Given the description of an element on the screen output the (x, y) to click on. 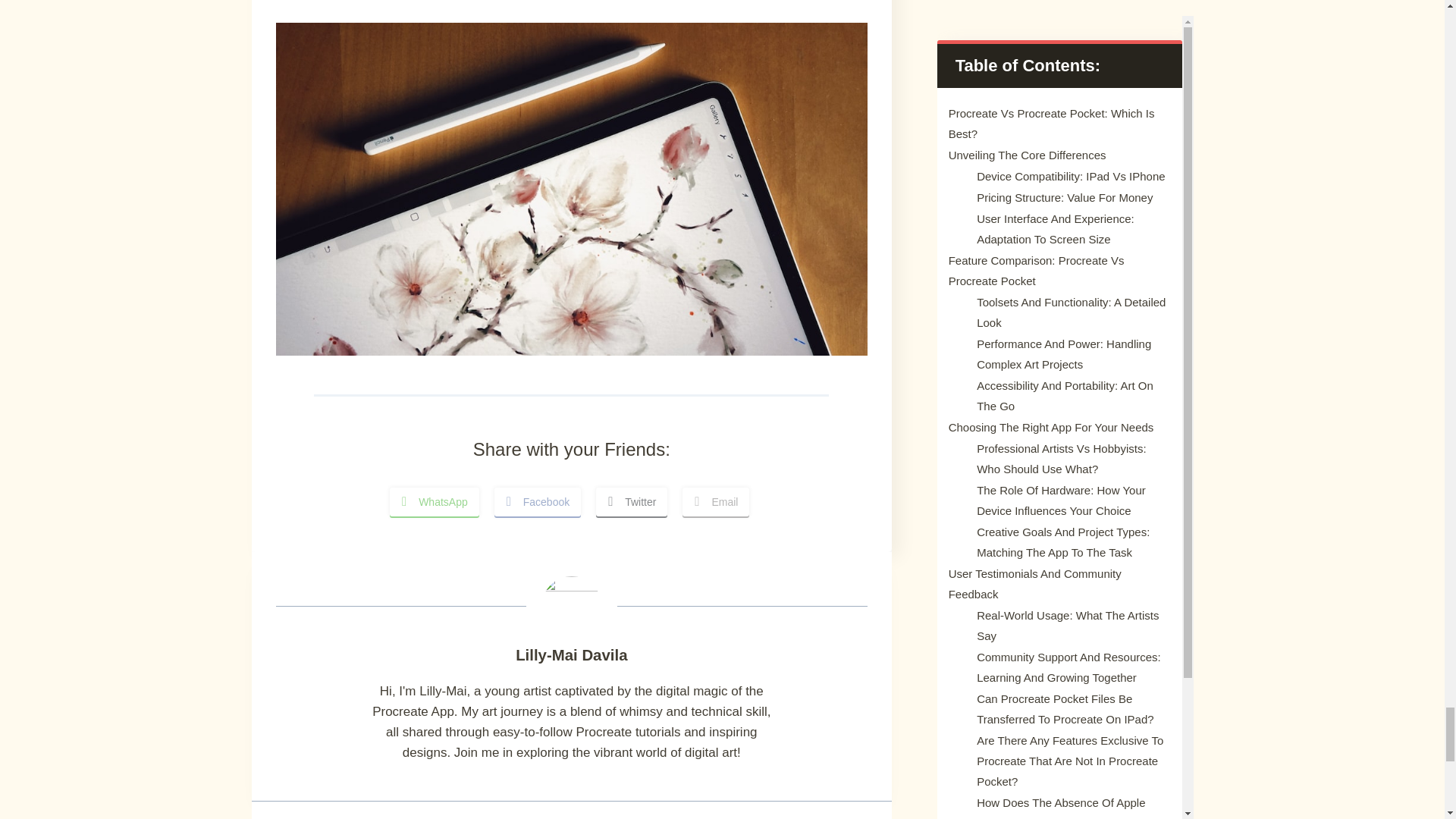
Posts by Lilly-Mai Davila (571, 655)
